Given the description of an element on the screen output the (x, y) to click on. 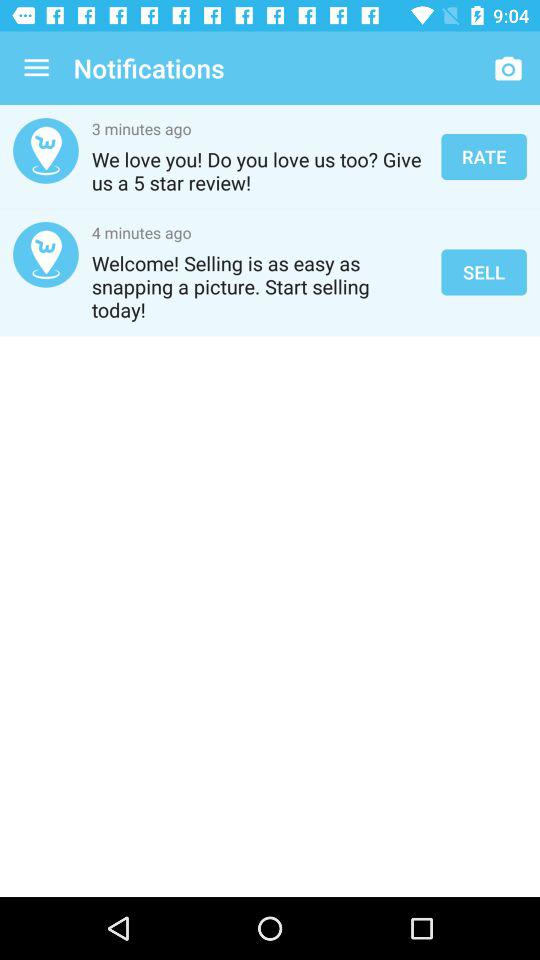
turn on the icon to the left of the notifications (36, 68)
